Given the description of an element on the screen output the (x, y) to click on. 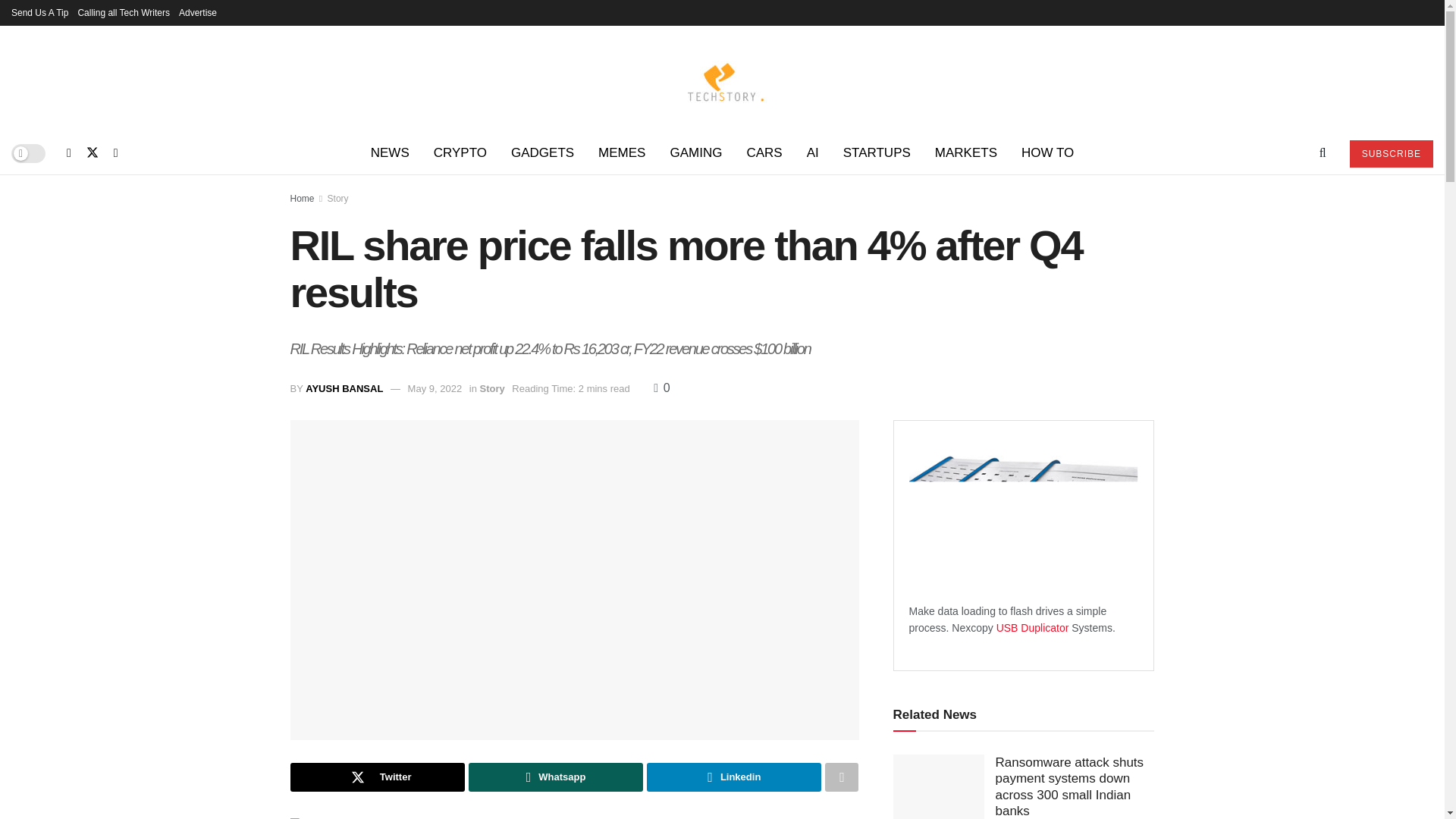
STARTUPS (877, 152)
USB duplicator (1033, 627)
Send Us A Tip (39, 12)
MEMES (622, 152)
Advertise (197, 12)
AYUSH BANSAL (343, 388)
CRYPTO (460, 152)
CARS (763, 152)
SUBSCRIBE (1390, 153)
GADGETS (542, 152)
